Given the description of an element on the screen output the (x, y) to click on. 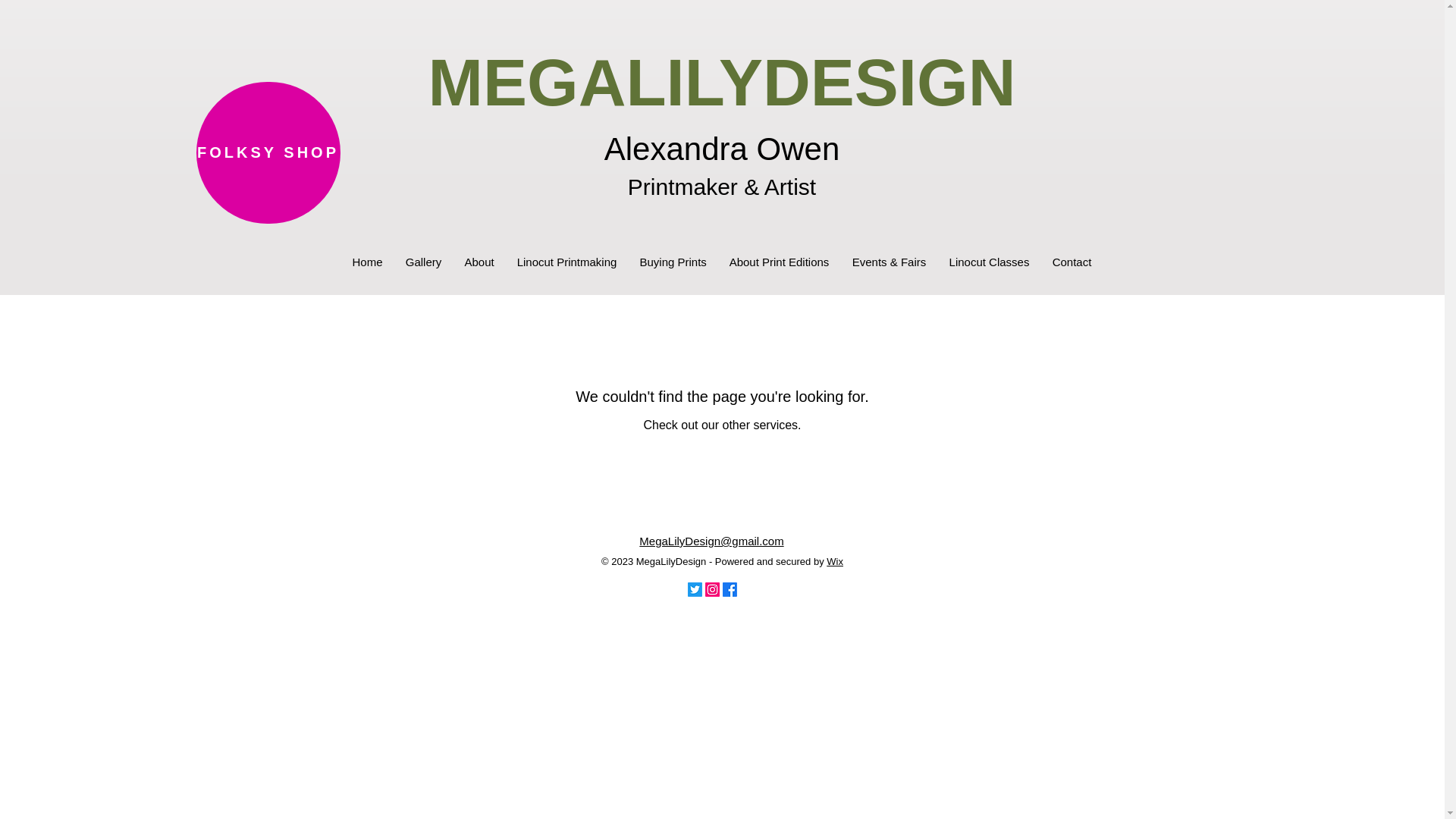
Linocut Printmaking (566, 262)
Buying Prints (672, 262)
Home (367, 262)
Gallery (423, 262)
Contact (1071, 262)
About (478, 262)
Wix (835, 561)
FOLKSY SHOP (267, 152)
About Print Editions (778, 262)
Linocut Classes (989, 262)
